Given the description of an element on the screen output the (x, y) to click on. 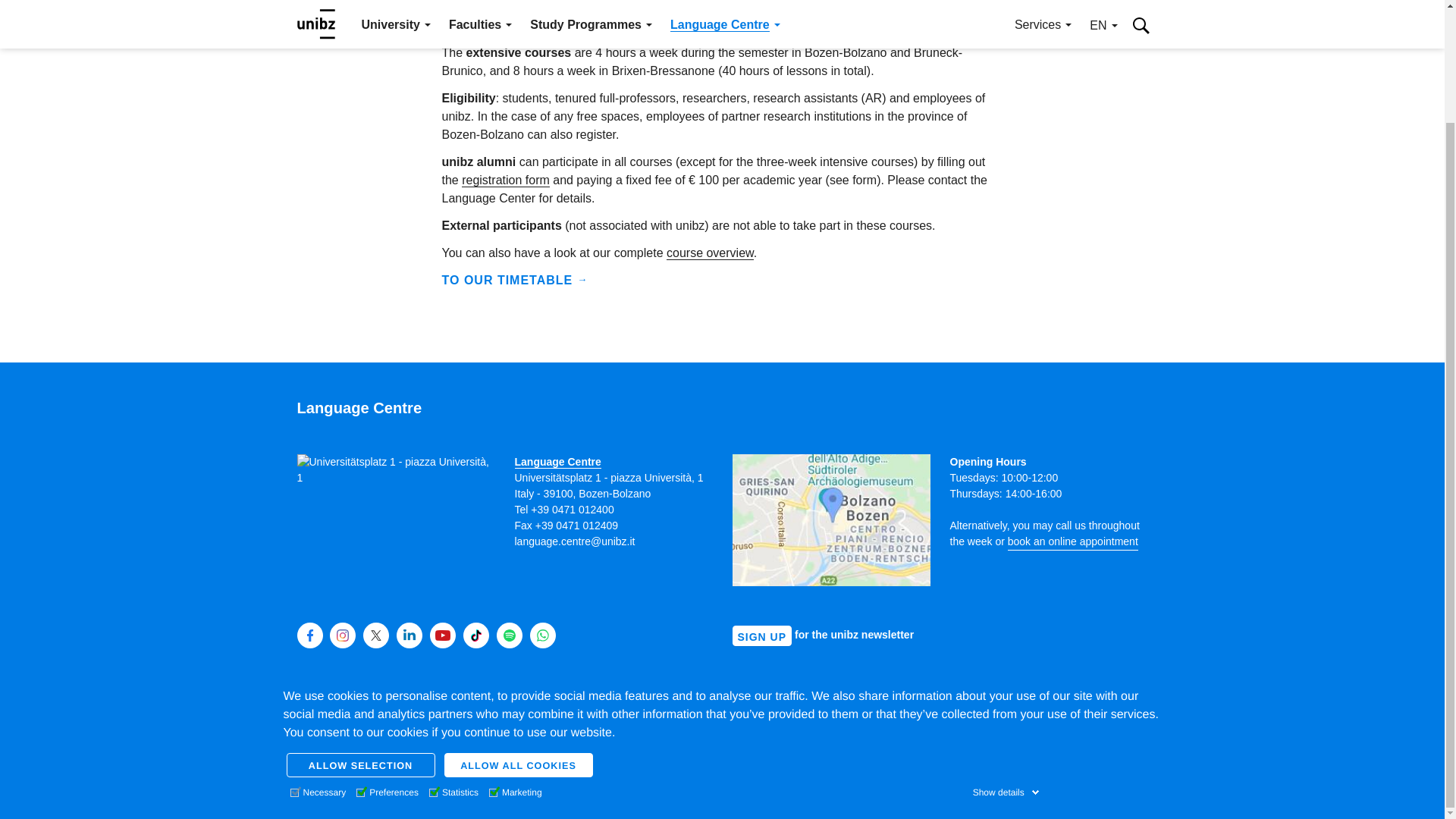
ALLOW SELECTION (360, 631)
ALLOW ALL COOKIES (518, 631)
Show details (1005, 658)
